Given the description of an element on the screen output the (x, y) to click on. 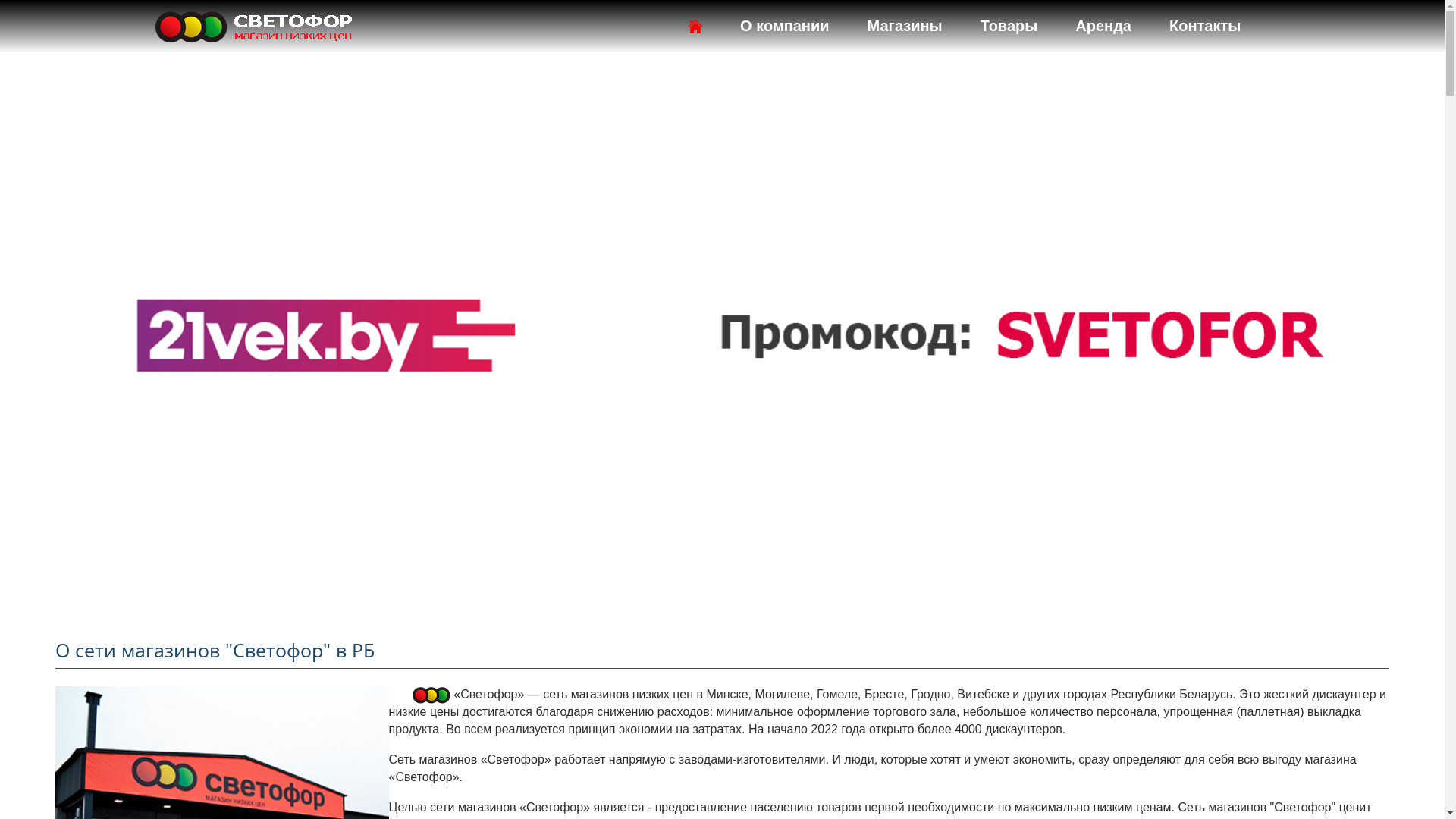
    Element type: text (1284, 26)
Advertisement Element type: hover (721, 494)
